Given the description of an element on the screen output the (x, y) to click on. 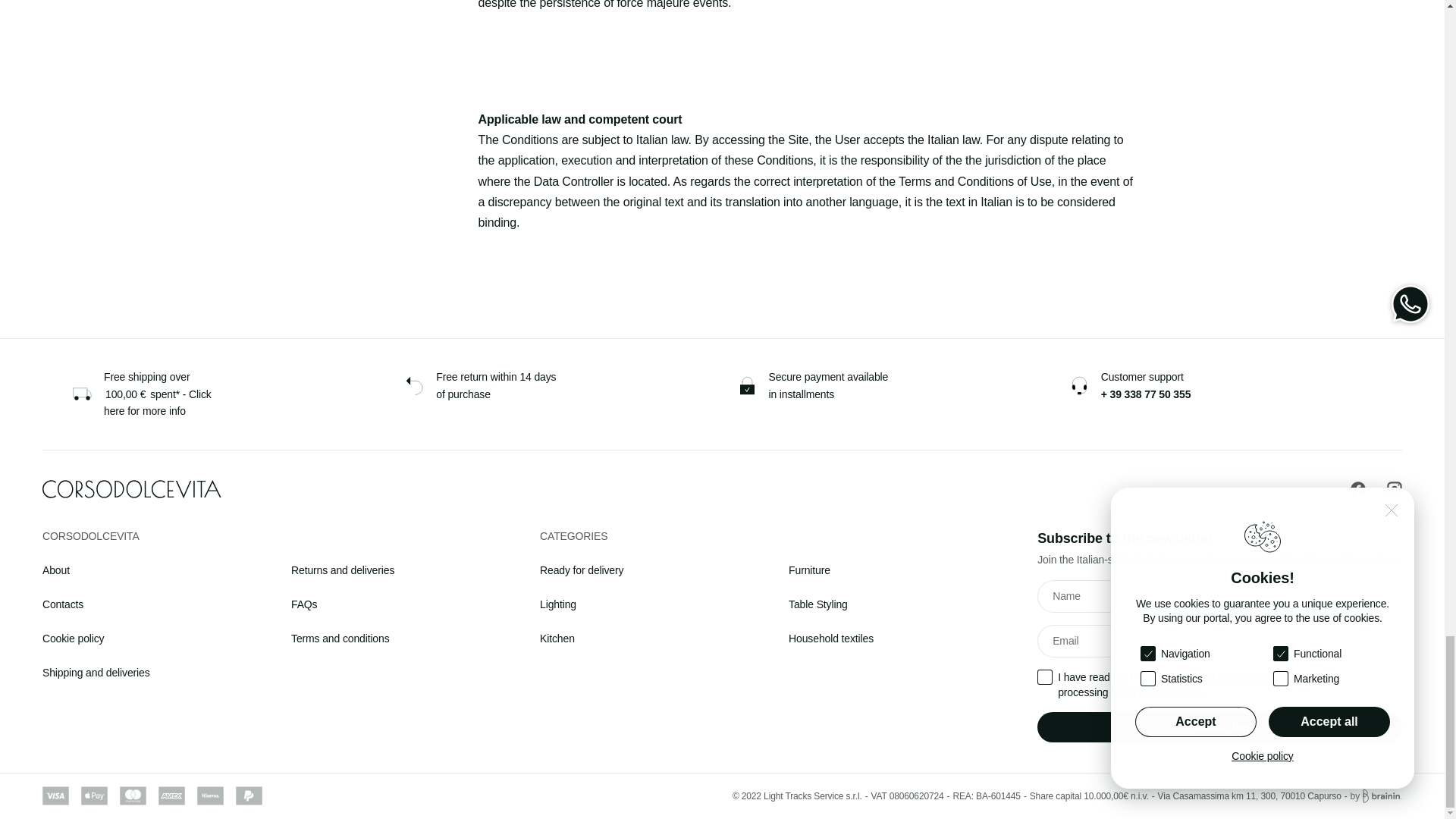
Shipping and deliveries (148, 393)
Safe payments (812, 385)
Returns and deliveries (480, 385)
Contacts (1145, 385)
